Given the description of an element on the screen output the (x, y) to click on. 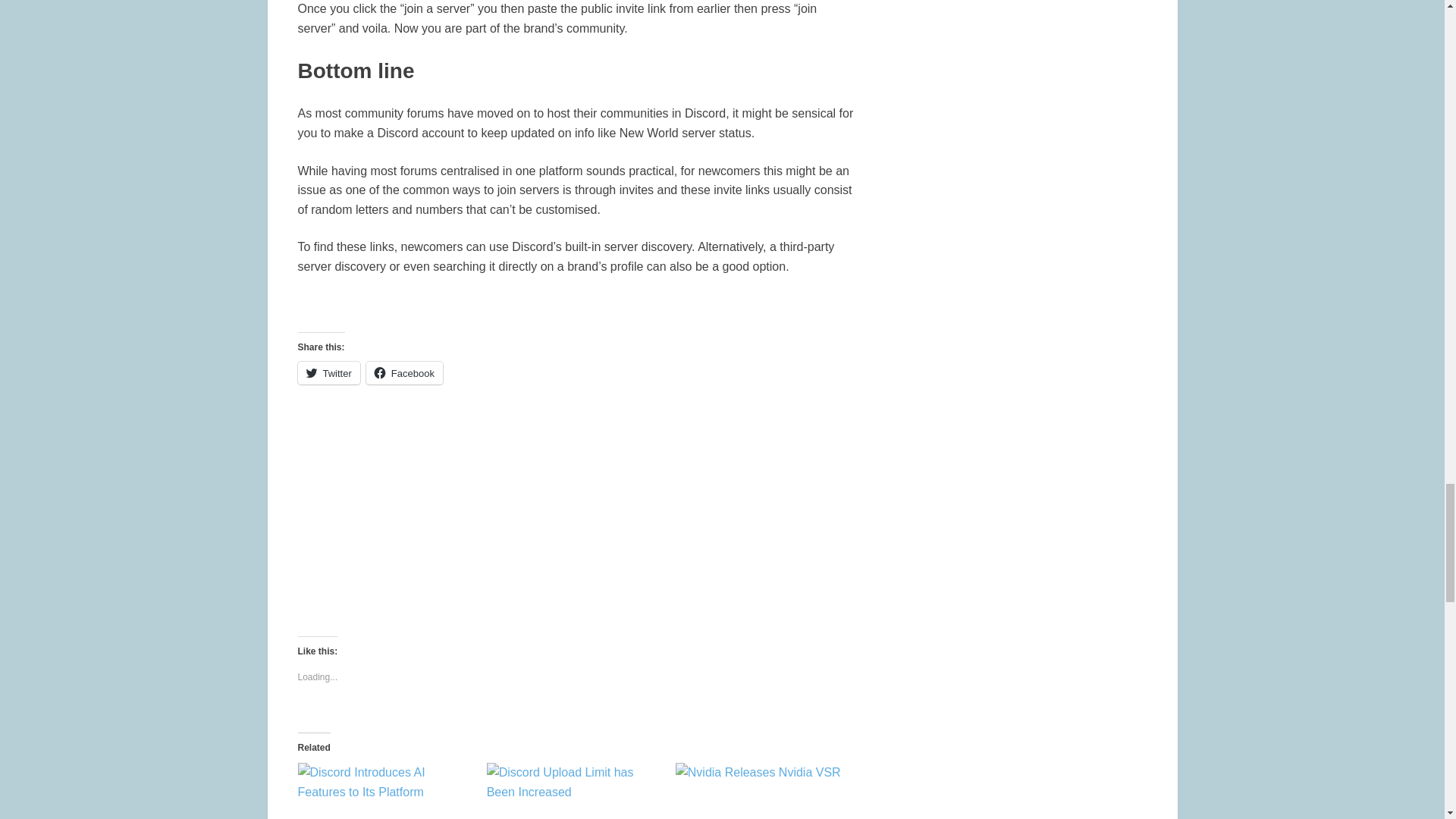
Click to share on Facebook (404, 372)
Nvidia RTX Virtual Super Resolution Real Life Test (761, 790)
Discord Introduces AI Features to Its Platform (383, 790)
Discord Upload Limit has Been Increased (573, 790)
Click to share on Twitter (328, 372)
